Given the description of an element on the screen output the (x, y) to click on. 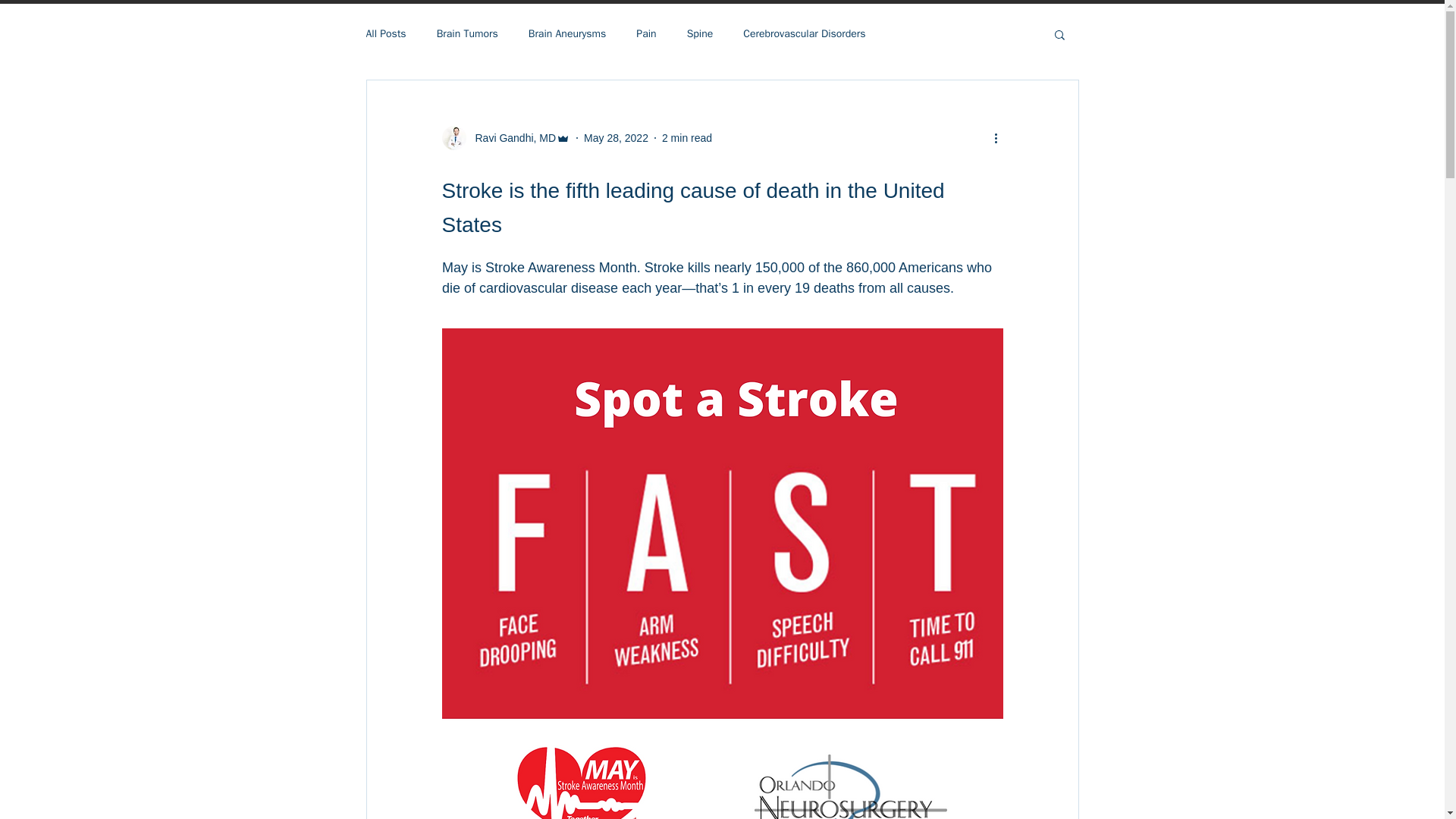
All Posts (385, 33)
2 min read (686, 137)
Brain Tumors (466, 33)
Spine (700, 33)
Ravi Gandhi, MD (510, 138)
Brain Aneurysms (567, 33)
Pain (646, 33)
Cerebrovascular Disorders (803, 33)
May 28, 2022 (615, 137)
Ravi Gandhi, MD (505, 137)
